Given the description of an element on the screen output the (x, y) to click on. 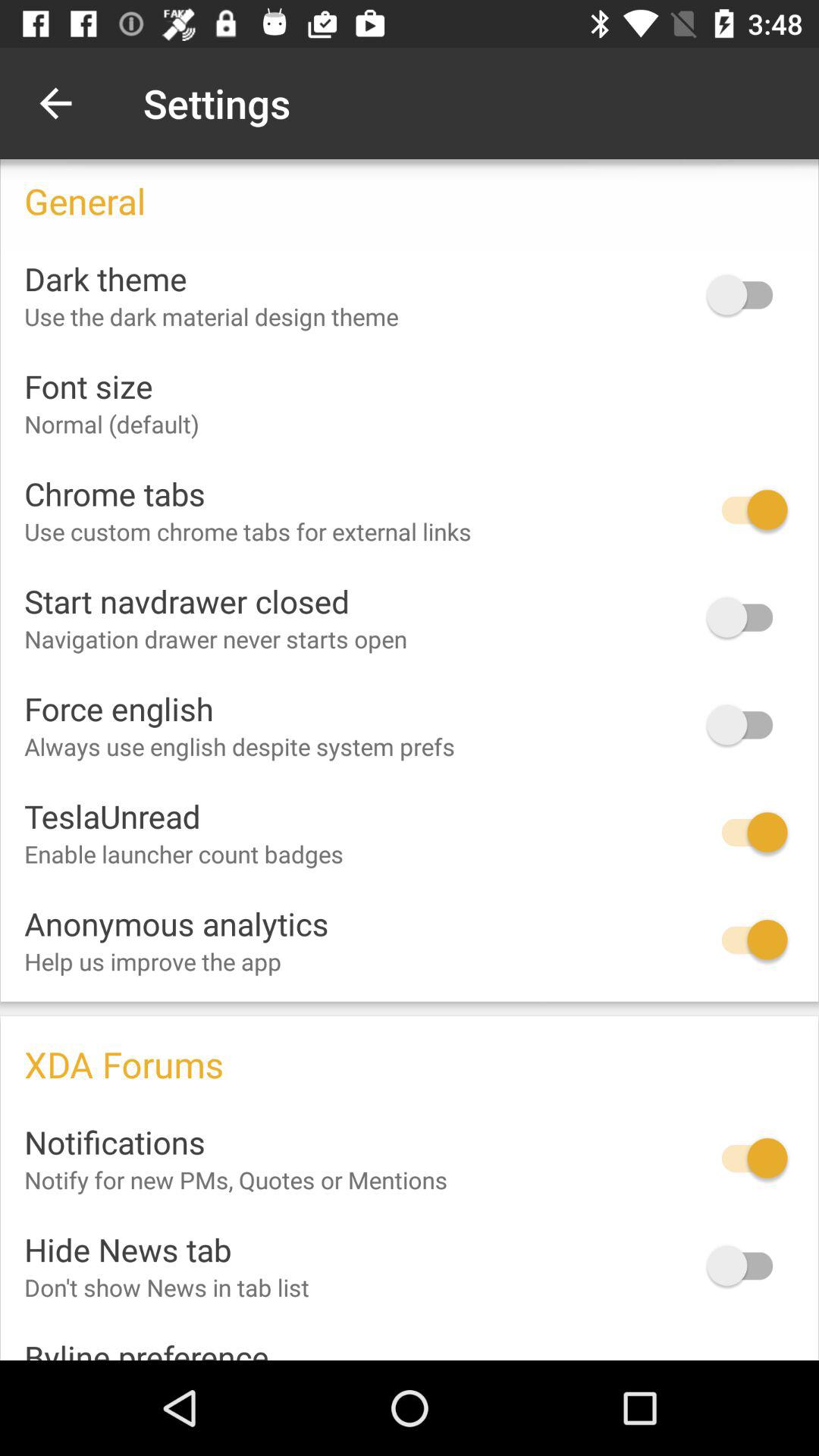
toggle force english (747, 724)
